Given the description of an element on the screen output the (x, y) to click on. 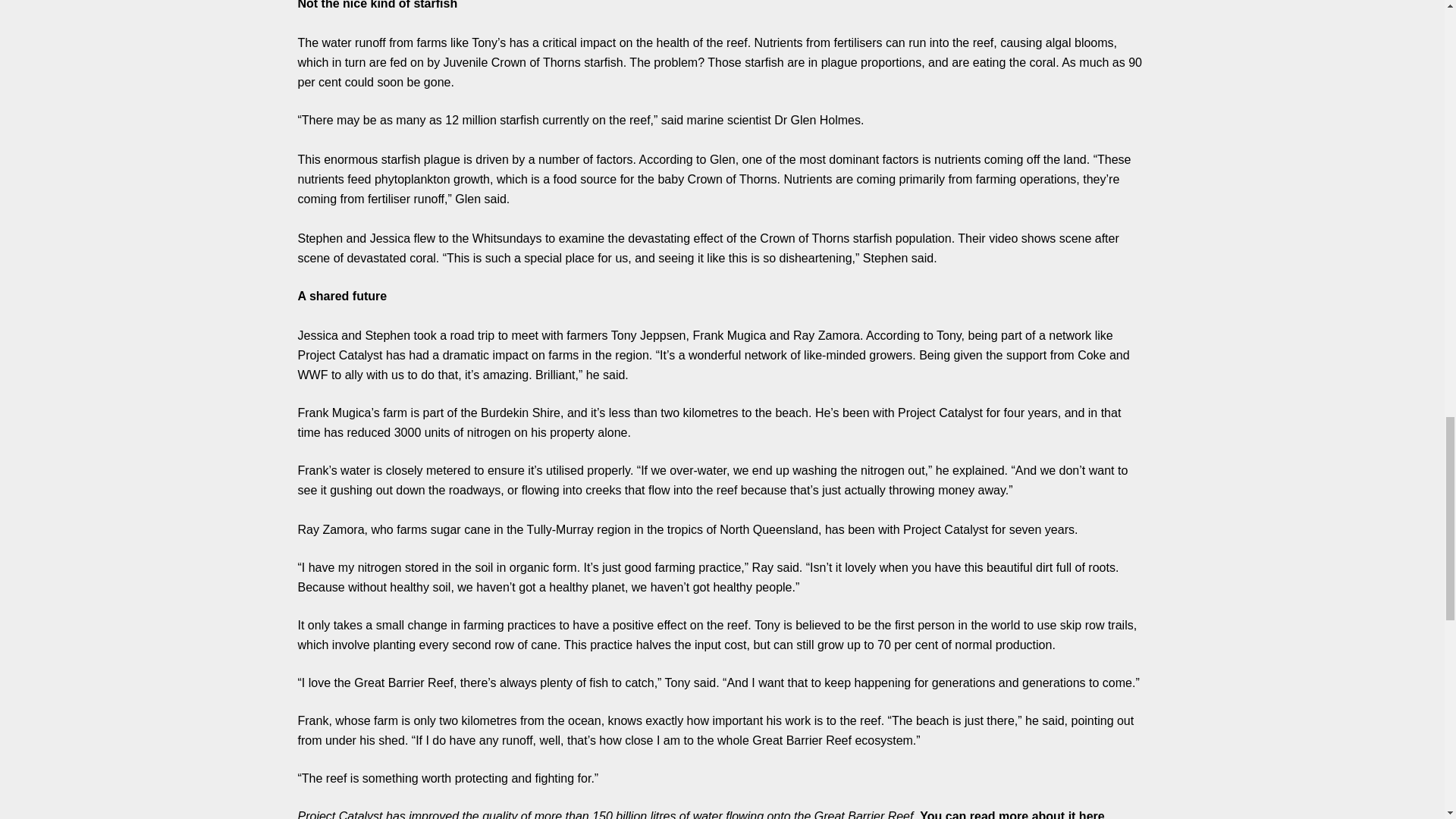
You can read more about it here (1011, 814)
